Given the description of an element on the screen output the (x, y) to click on. 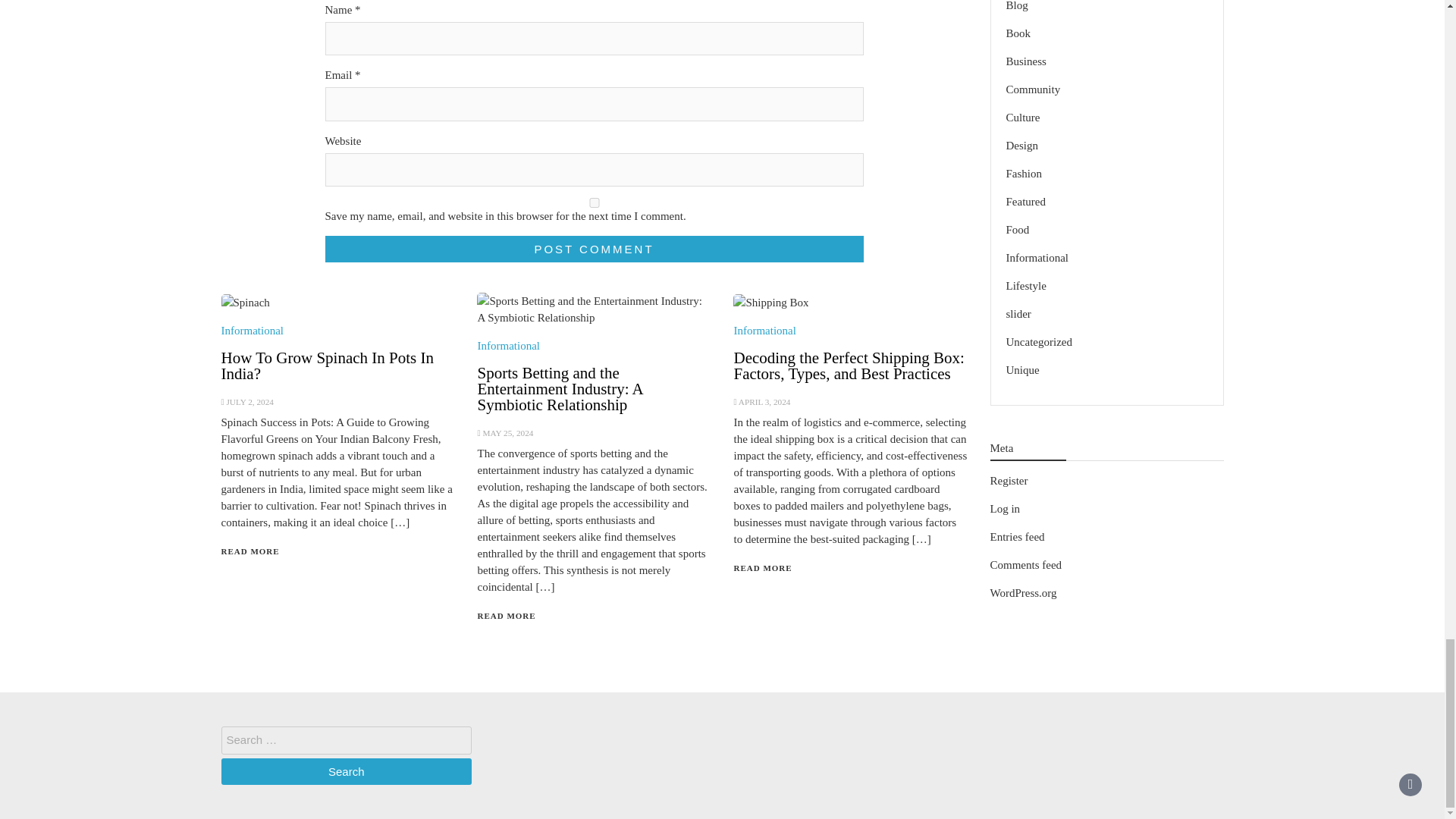
Informational (507, 345)
yes (593, 203)
Search for: (346, 740)
Informational (763, 330)
Informational (252, 330)
Search (346, 771)
Post Comment (593, 248)
READ MORE (250, 551)
How To Grow Spinach In Pots In India? (327, 365)
MAY 25, 2024 (506, 432)
Search (346, 771)
JULY 2, 2024 (249, 401)
APRIL 3, 2024 (764, 401)
